Given the description of an element on the screen output the (x, y) to click on. 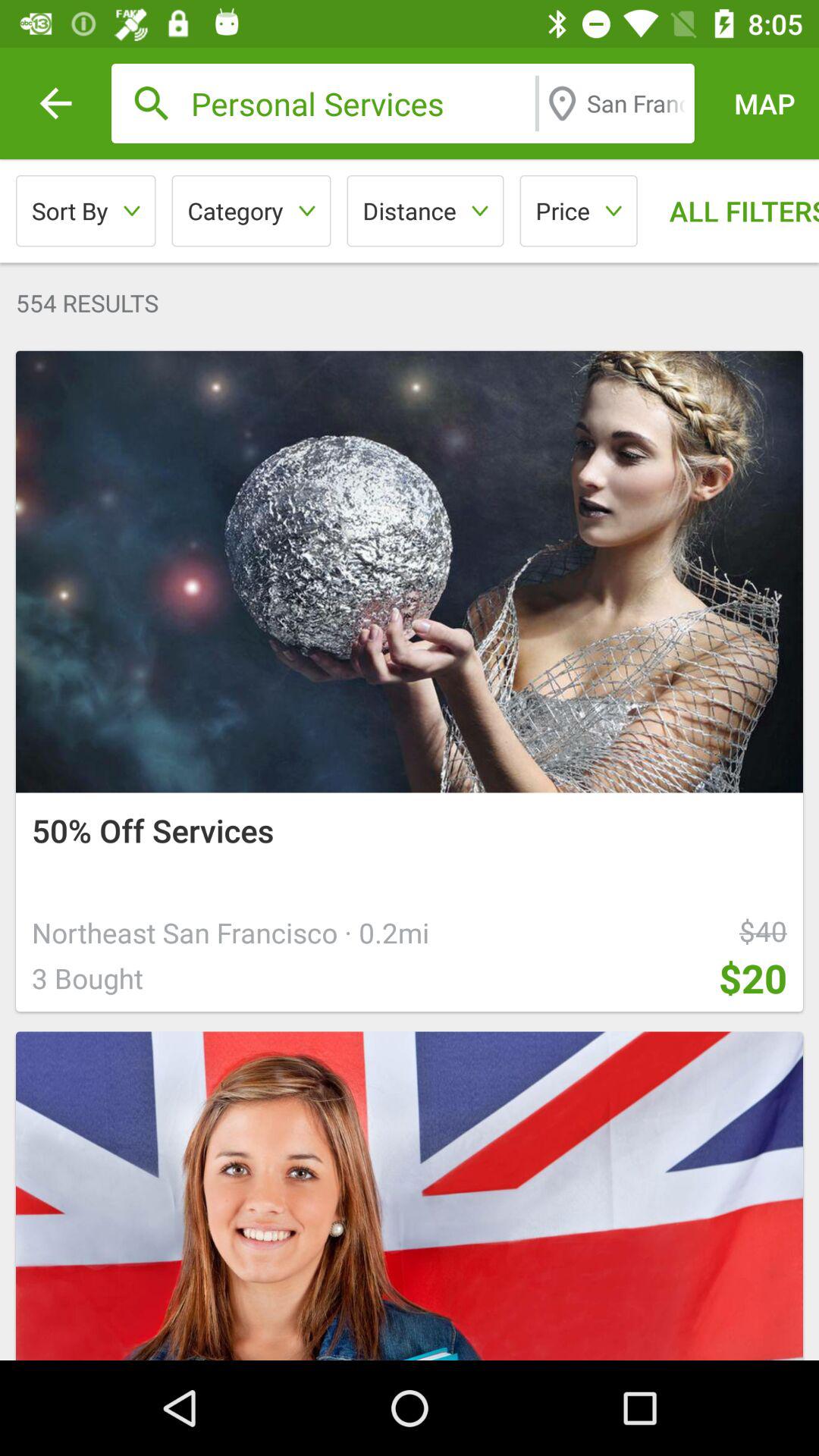
choose item to the right of sort by item (251, 210)
